Given the description of an element on the screen output the (x, y) to click on. 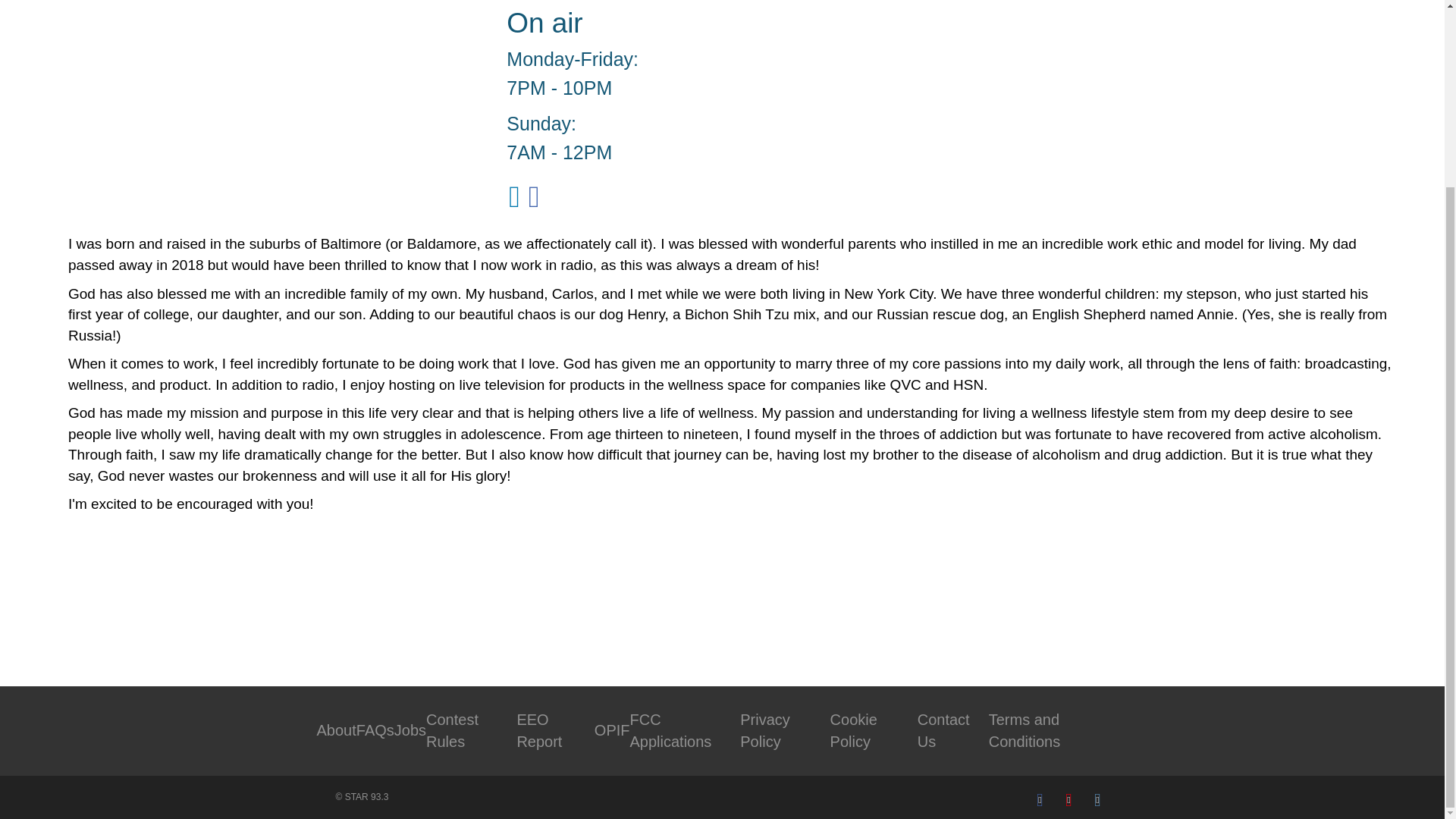
Privacy Policy (764, 730)
About (336, 729)
FCC Applications (670, 730)
FAQs (375, 729)
Jobs (410, 729)
Contest Rules (452, 730)
Cookie Policy (853, 730)
OPIF (612, 729)
Go back (131, 604)
EEO Report (539, 730)
